Given the description of an element on the screen output the (x, y) to click on. 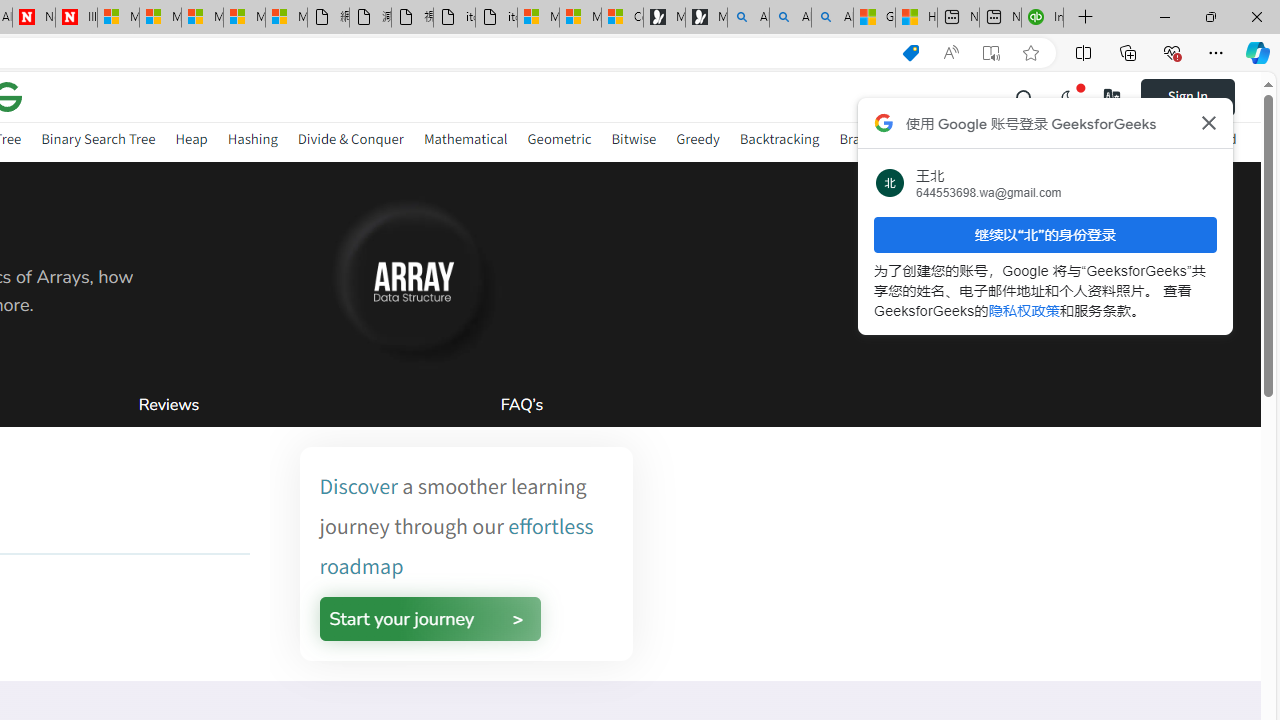
Pattern Searching (1085, 142)
Binary Search Tree (98, 138)
Start your journey > (429, 618)
Mathematical (465, 138)
Greedy (697, 138)
AutomationID: gfg-nuj-heading-image (408, 277)
itconcepthk.com/projector_solutions.mp4 (496, 17)
Pattern Searching (1085, 138)
Heap (191, 138)
Class: header-main__left-list-item gcse-search_li p-relative (1025, 96)
